Given the description of an element on the screen output the (x, y) to click on. 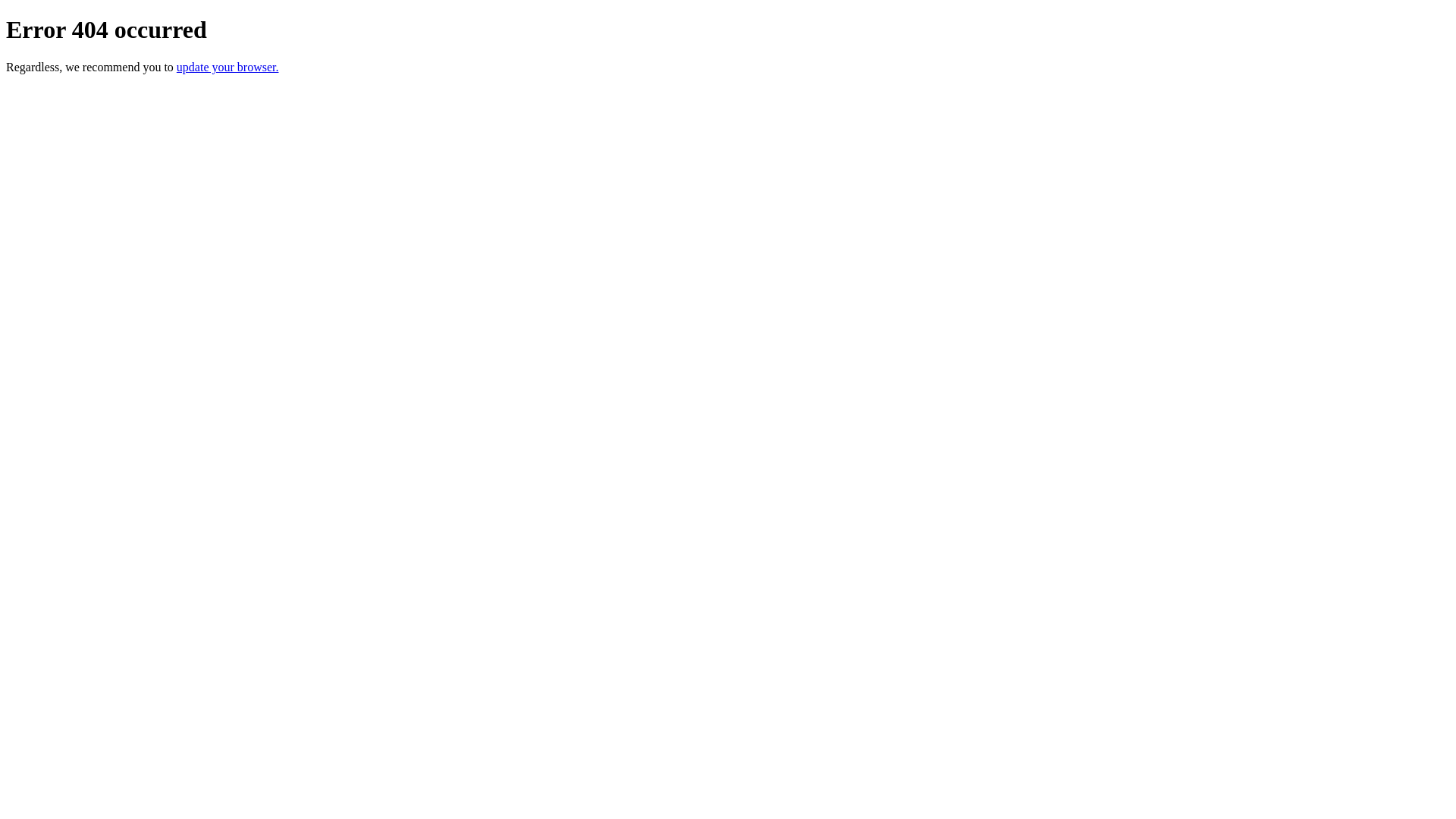
update your browser. Element type: text (227, 66)
